Given the description of an element on the screen output the (x, y) to click on. 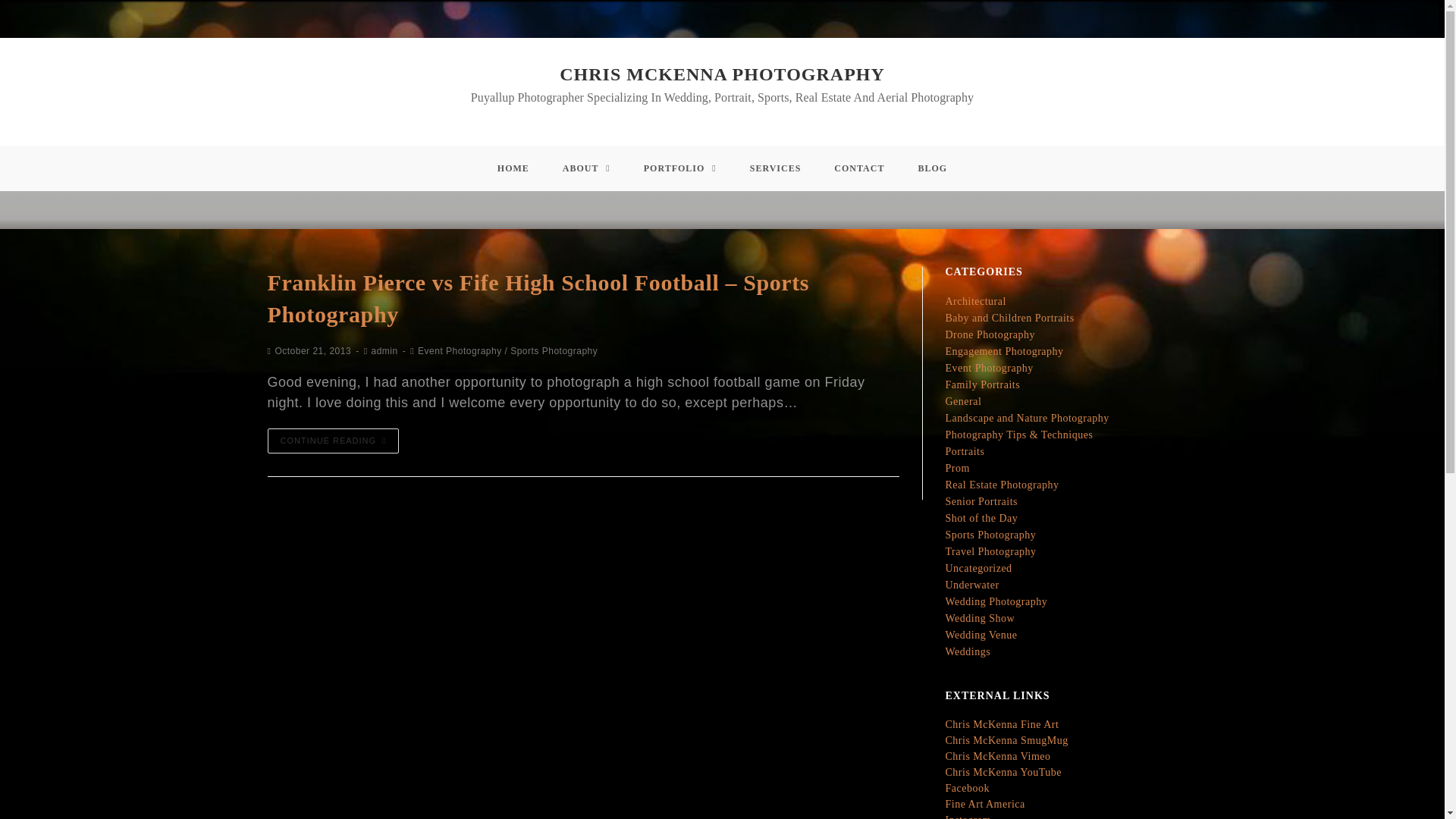
Follow Me on Instagram (967, 816)
General (962, 401)
BLOG (932, 167)
Shot of the Day (980, 518)
Chris McKenna YouTube Channel (1002, 772)
Chris McKenna Vimeo Channel (996, 756)
Underwater (971, 584)
Continue Reading (332, 440)
Event Photography (988, 367)
Portraits (964, 451)
